Given the description of an element on the screen output the (x, y) to click on. 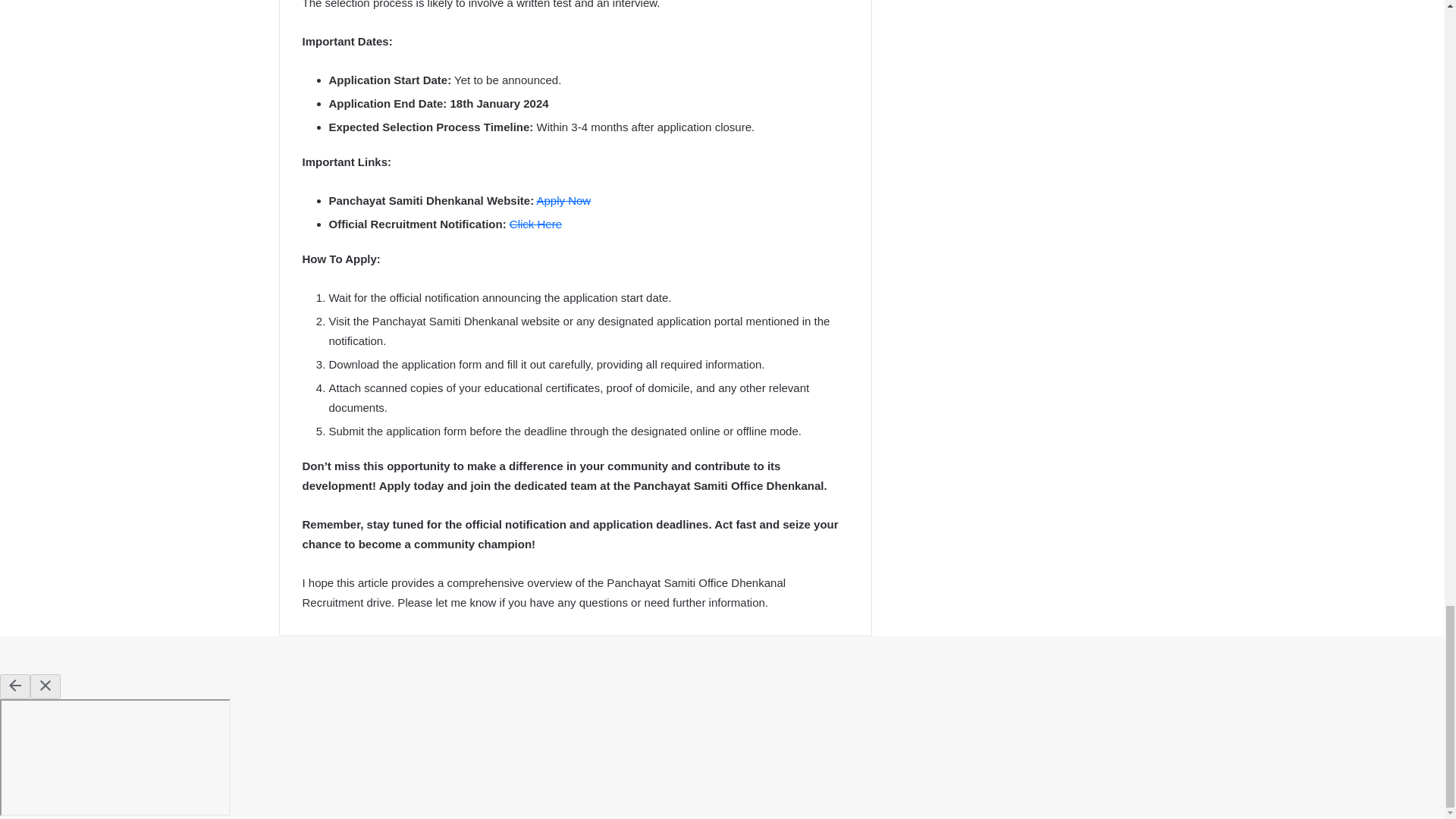
Apply Now (564, 200)
Click Here (535, 223)
